Given the description of an element on the screen output the (x, y) to click on. 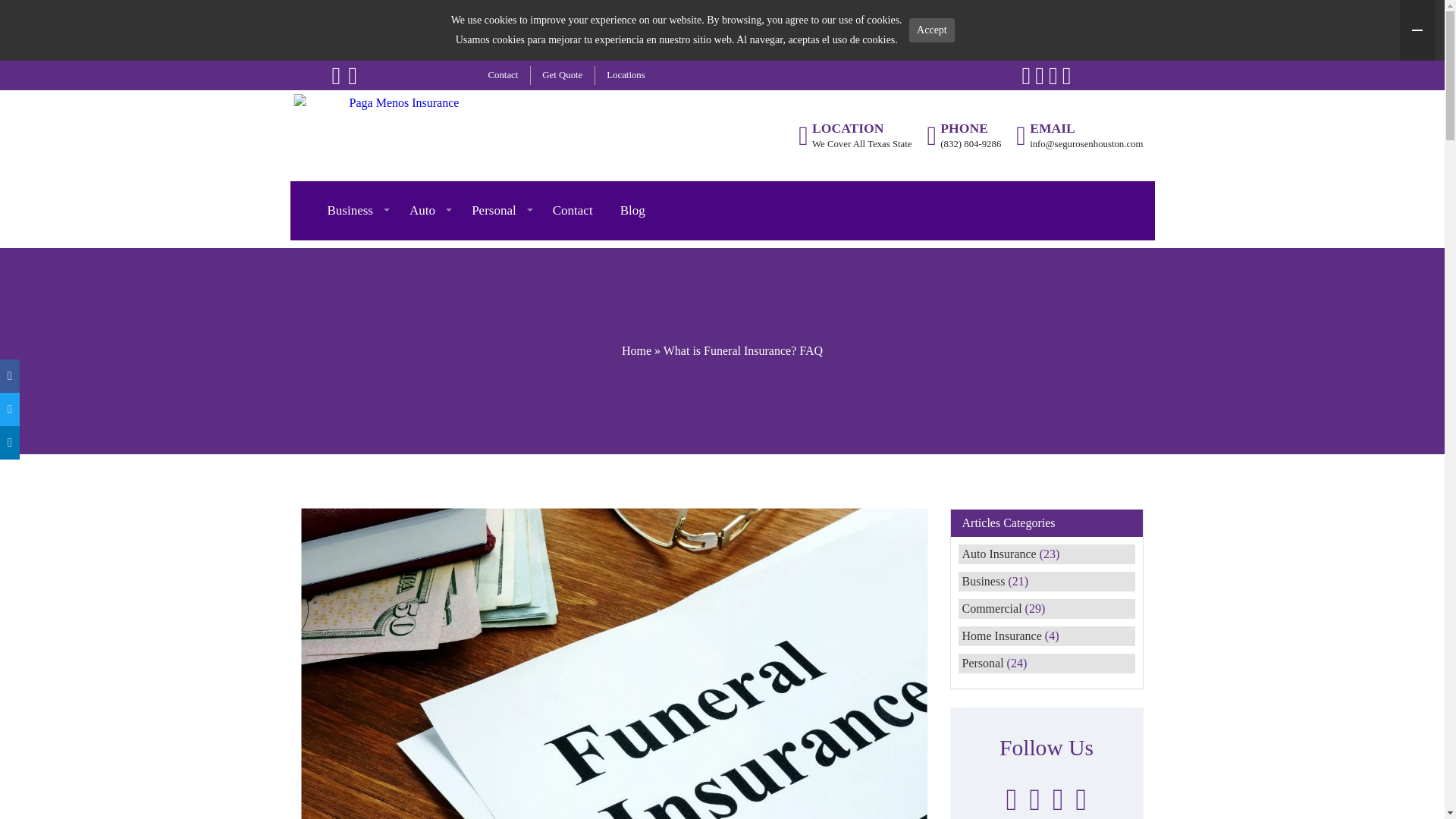
Home (635, 350)
Contact (503, 75)
Business (982, 581)
Business (355, 210)
Blog (633, 210)
Personal (981, 662)
Personal (498, 210)
Get Quote (561, 75)
Home Insurance (1000, 635)
Auto (427, 210)
